Given the description of an element on the screen output the (x, y) to click on. 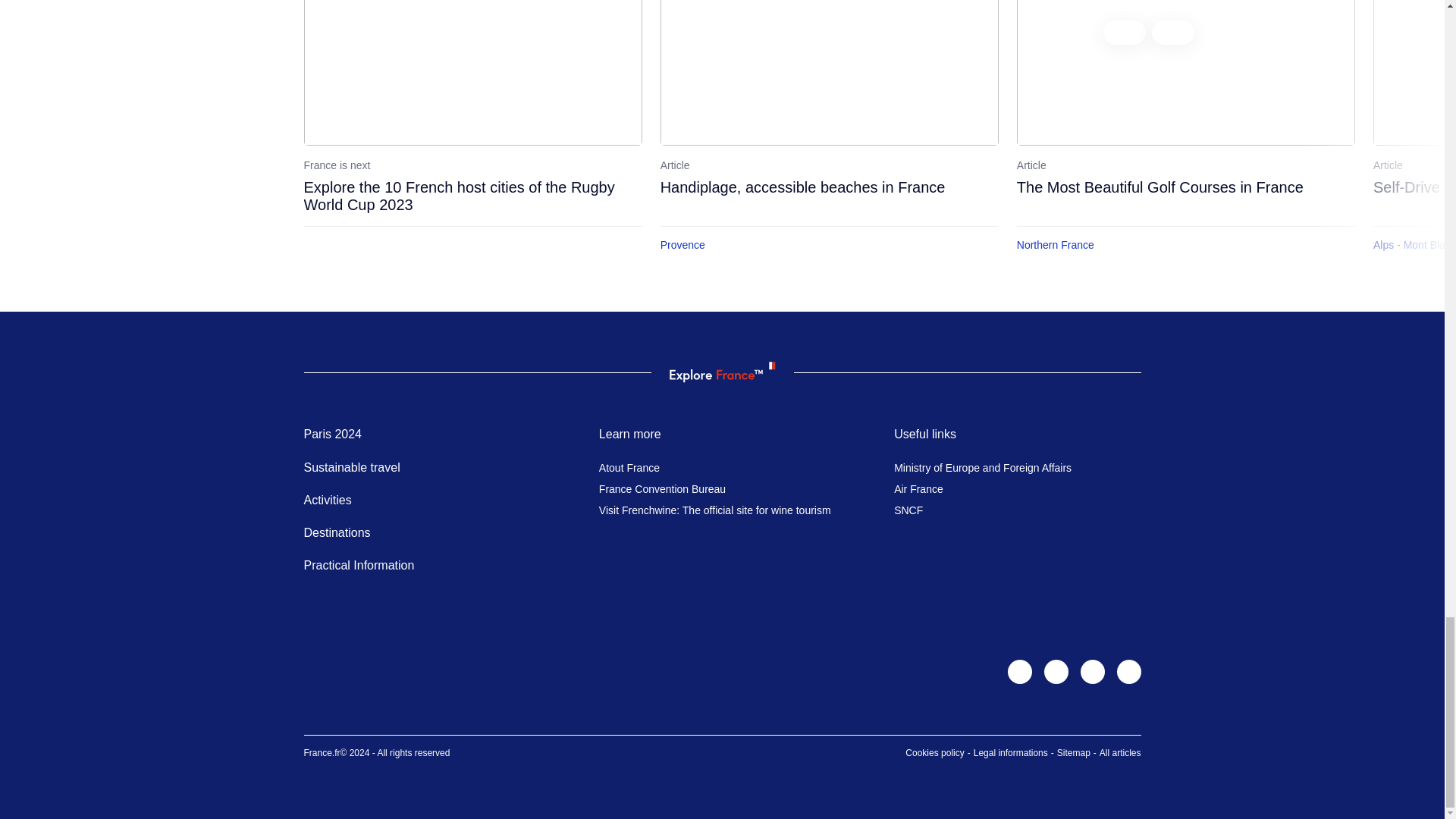
Follow us follow on X (1128, 671)
Explore France (721, 372)
Follow us follow on TikTok (1091, 671)
Follow us follow on Facebook (1055, 671)
Follow us follow on Instagram (1018, 671)
